Given the description of an element on the screen output the (x, y) to click on. 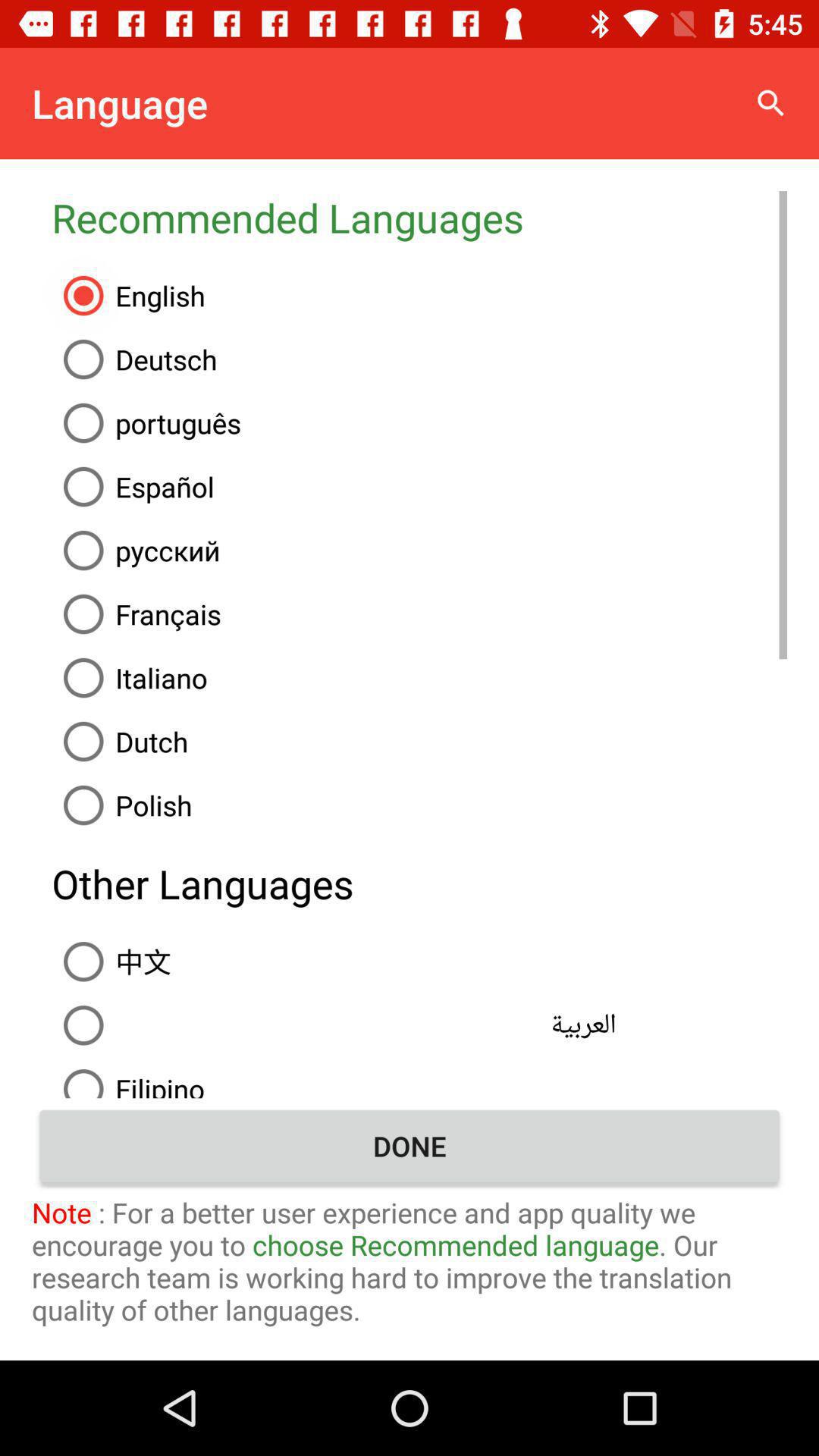
press the item below the recommended languages icon (419, 295)
